Given the description of an element on the screen output the (x, y) to click on. 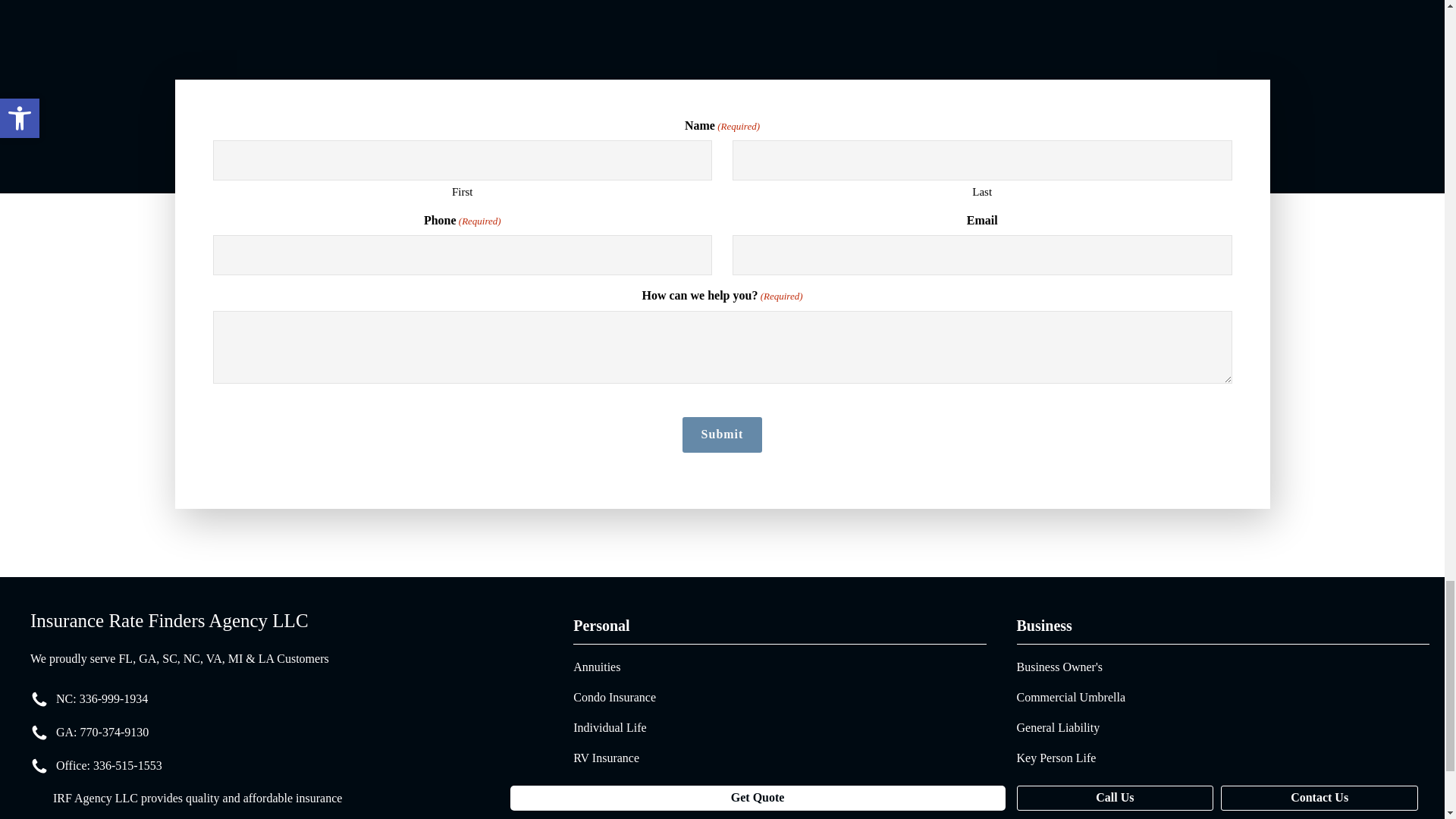
NC: 336-999-1934 (102, 699)
Submit (722, 434)
Submit (722, 434)
